Given the description of an element on the screen output the (x, y) to click on. 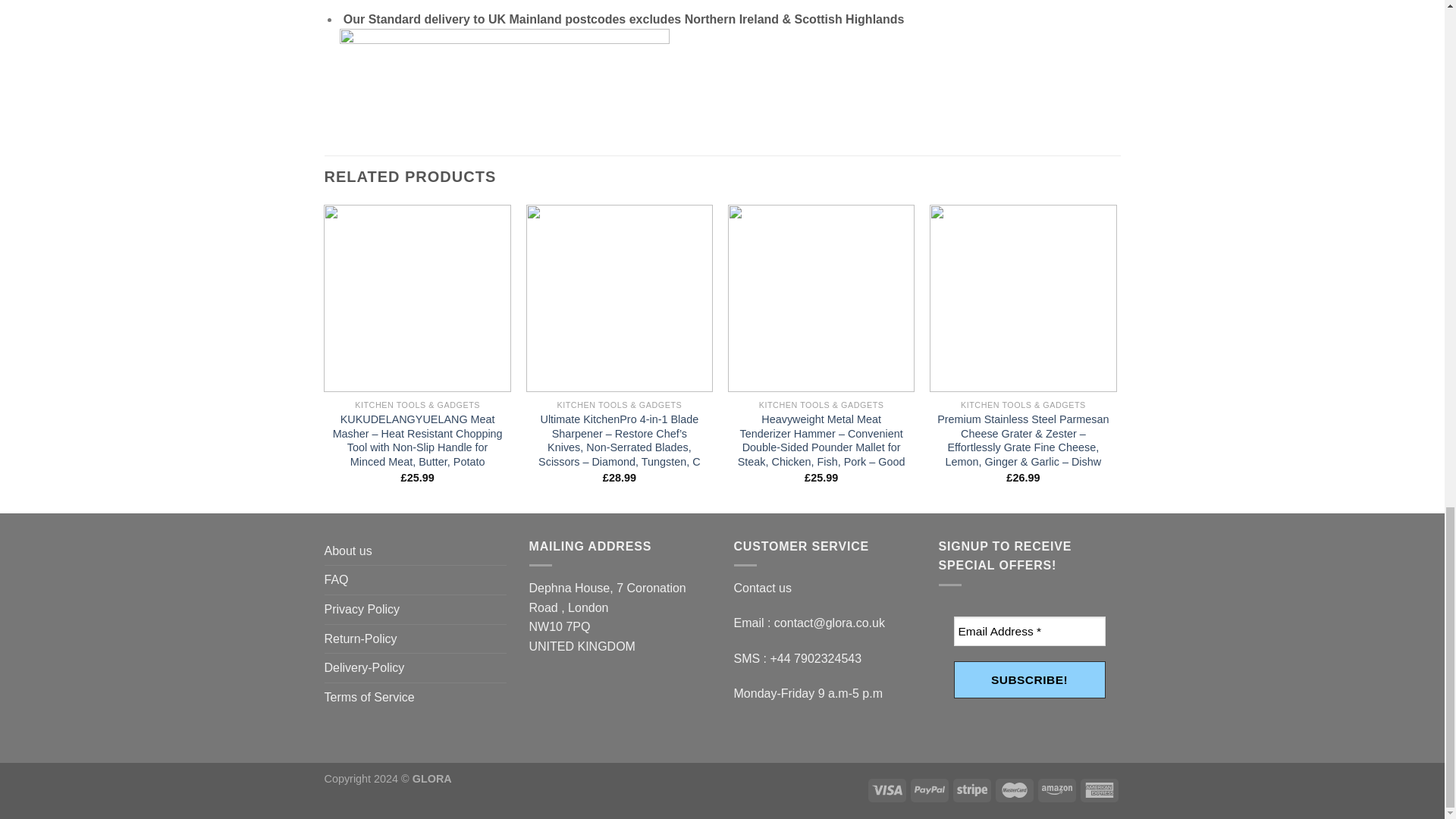
Subscribe! (1029, 679)
